Given the description of an element on the screen output the (x, y) to click on. 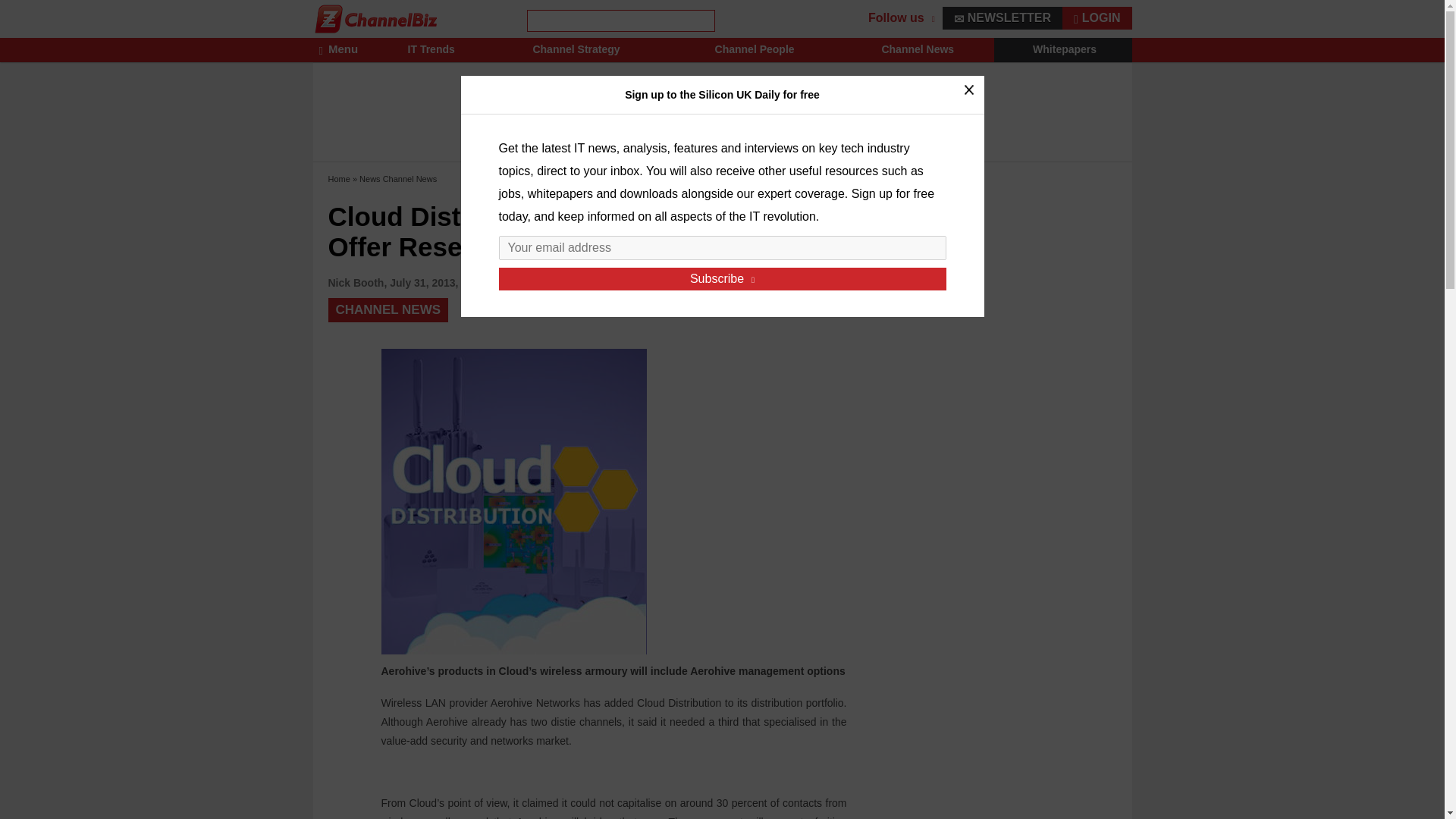
NEWSLETTER (1002, 17)
Whitepapers (1063, 49)
Follow us (900, 17)
Channel People (752, 49)
CHANNEL NEWS (387, 310)
Home (338, 178)
ChannelBiz UK (377, 18)
Channel News (916, 49)
Search (25, 9)
LOGIN (1097, 17)
